Given the description of an element on the screen output the (x, y) to click on. 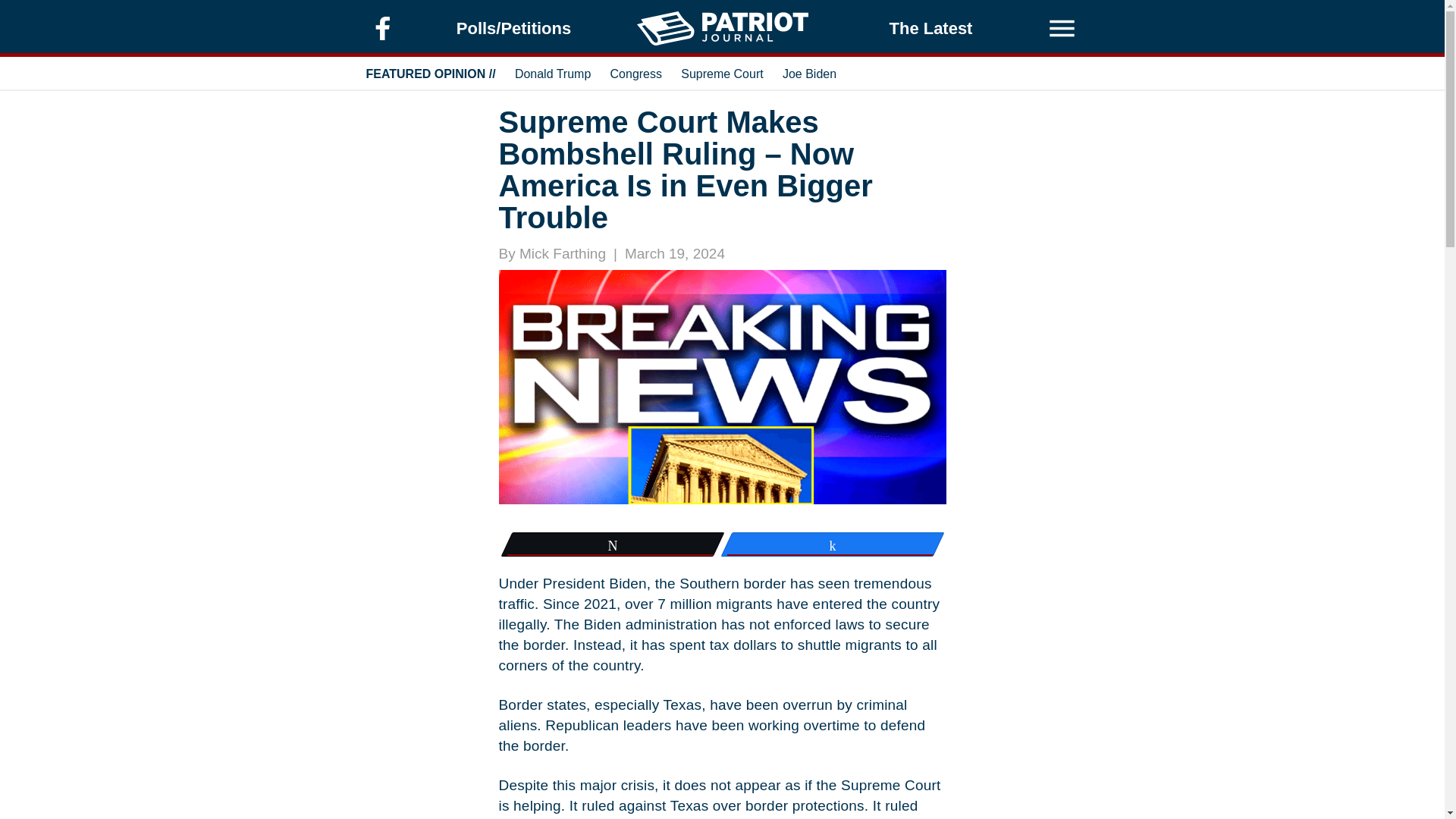
Joe Biden (809, 73)
Mick Farthing (562, 253)
Supreme Court (721, 73)
Congress (636, 73)
The Latest (930, 28)
Donald Trump (553, 73)
